Given the description of an element on the screen output the (x, y) to click on. 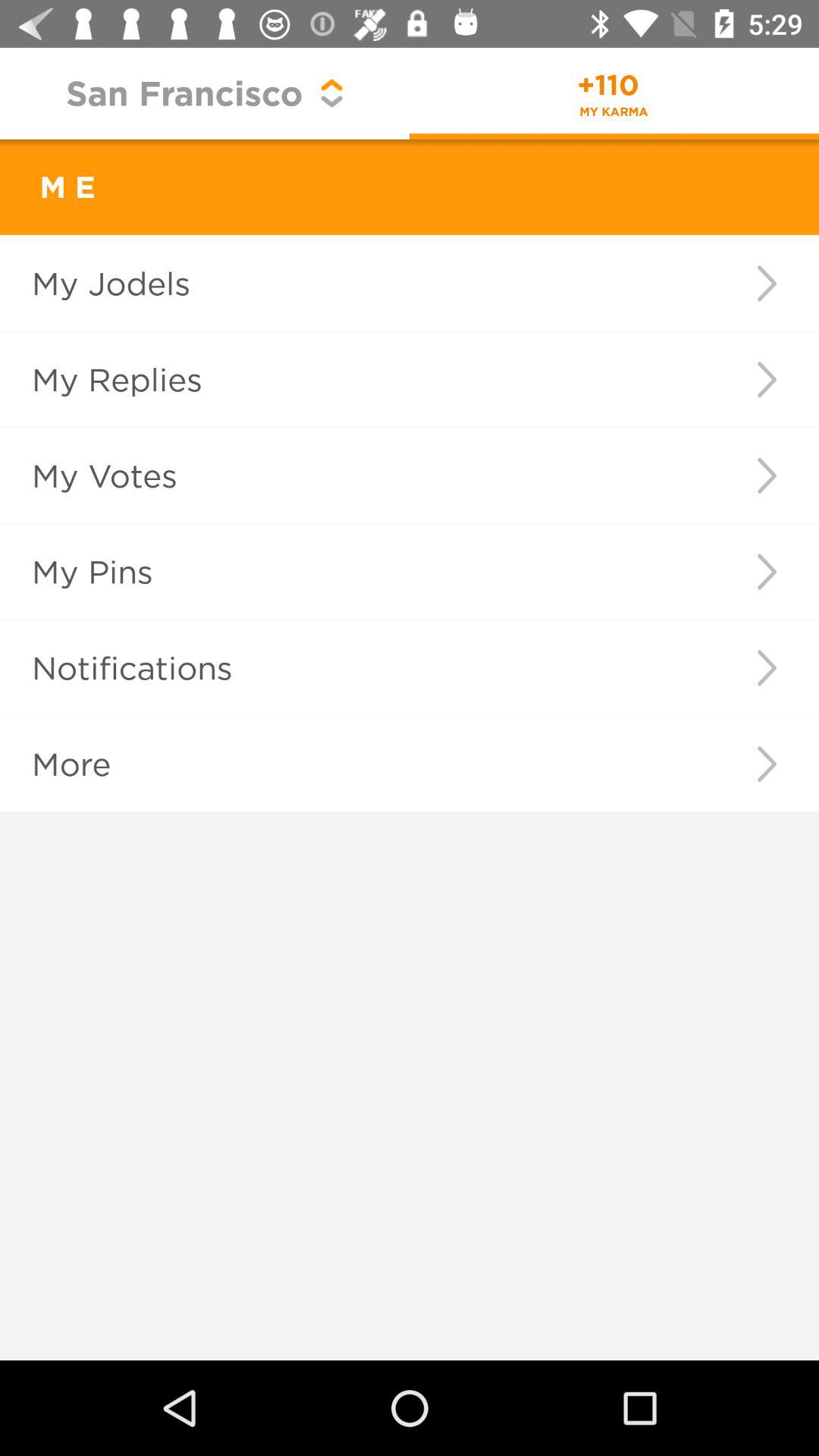
turn on icon next to my votes icon (766, 475)
